Given the description of an element on the screen output the (x, y) to click on. 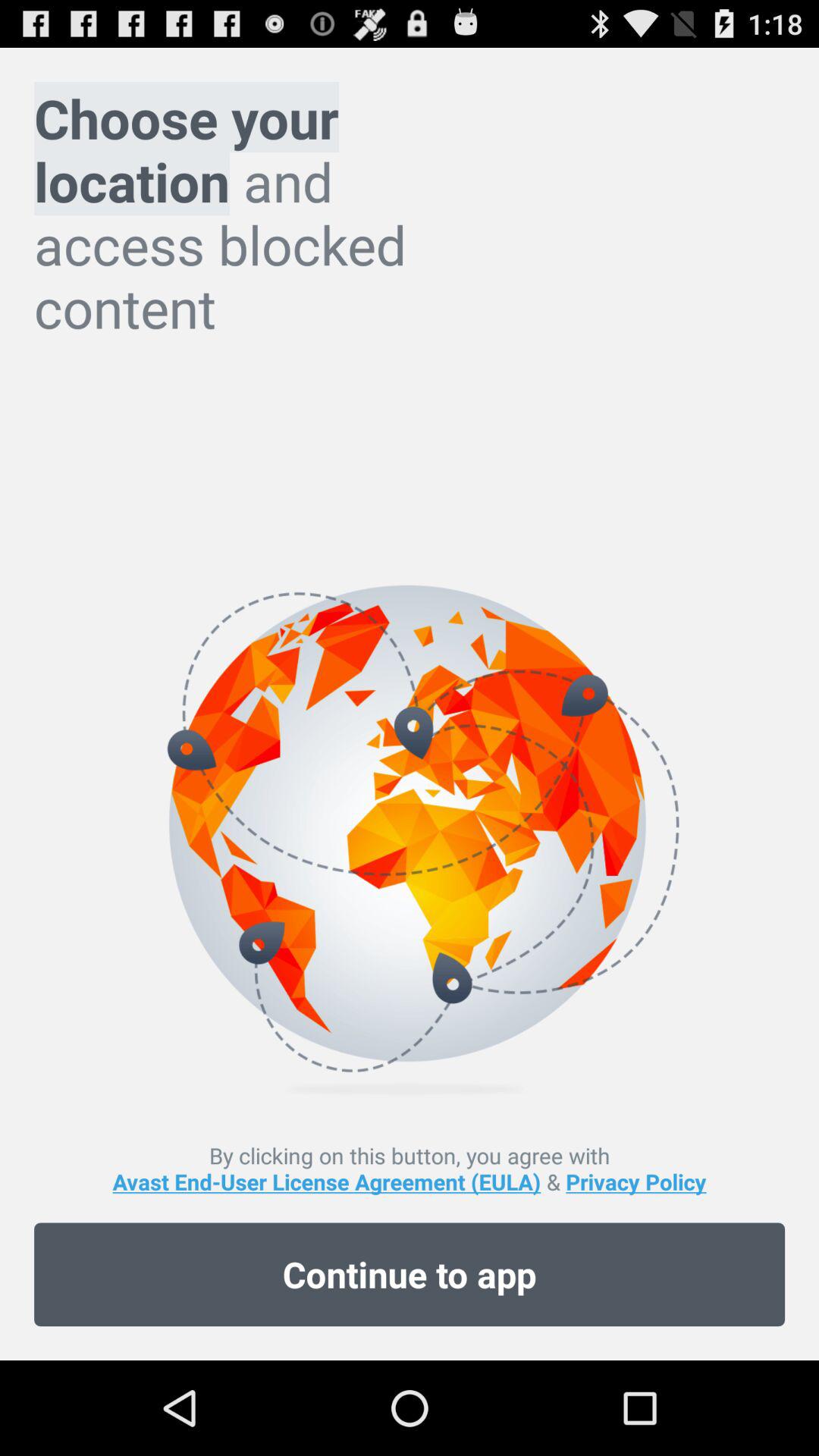
flip until the by clicking on app (409, 1168)
